Given the description of an element on the screen output the (x, y) to click on. 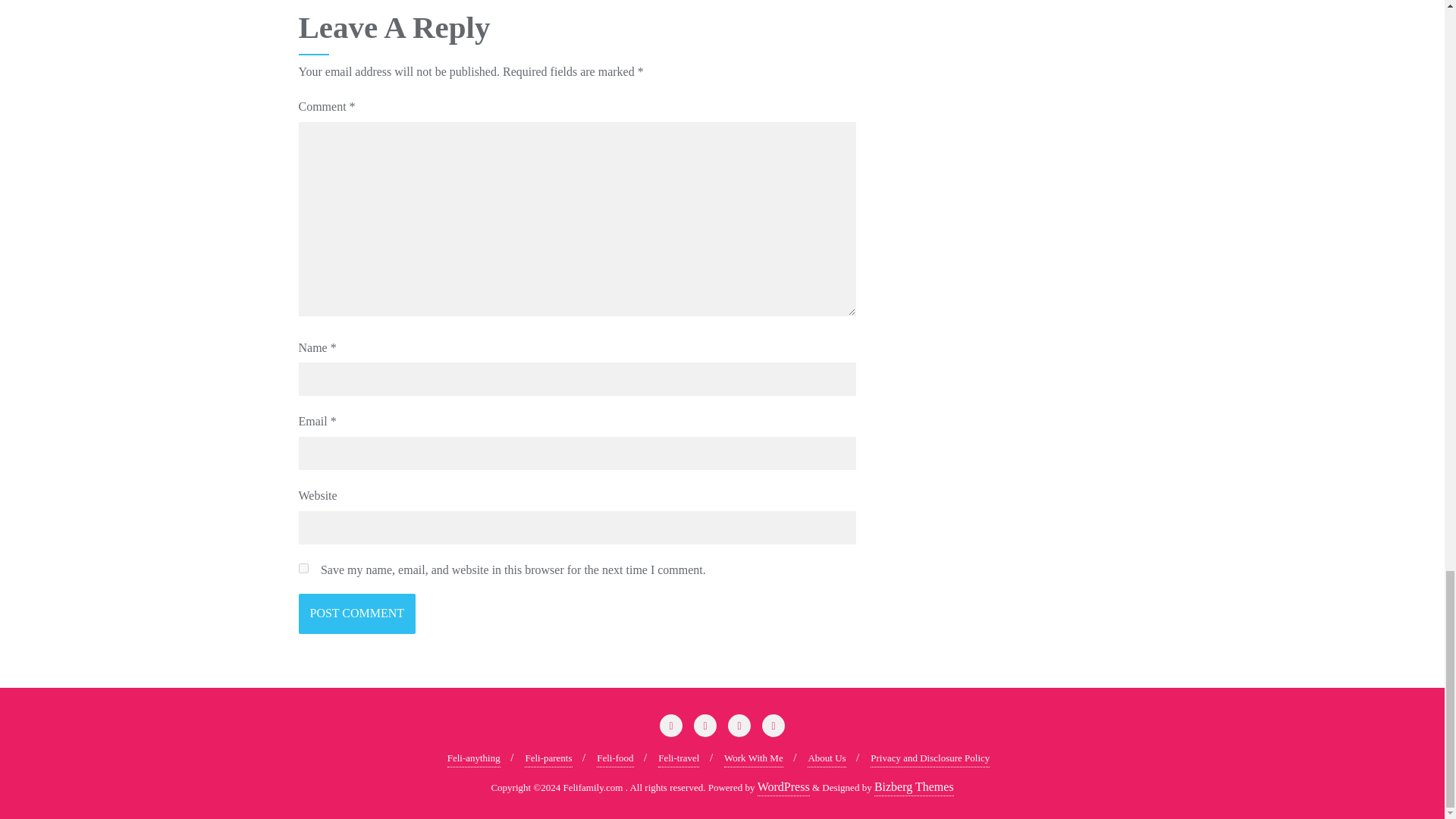
Post Comment (357, 613)
Post Comment (357, 613)
yes (303, 568)
